Given the description of an element on the screen output the (x, y) to click on. 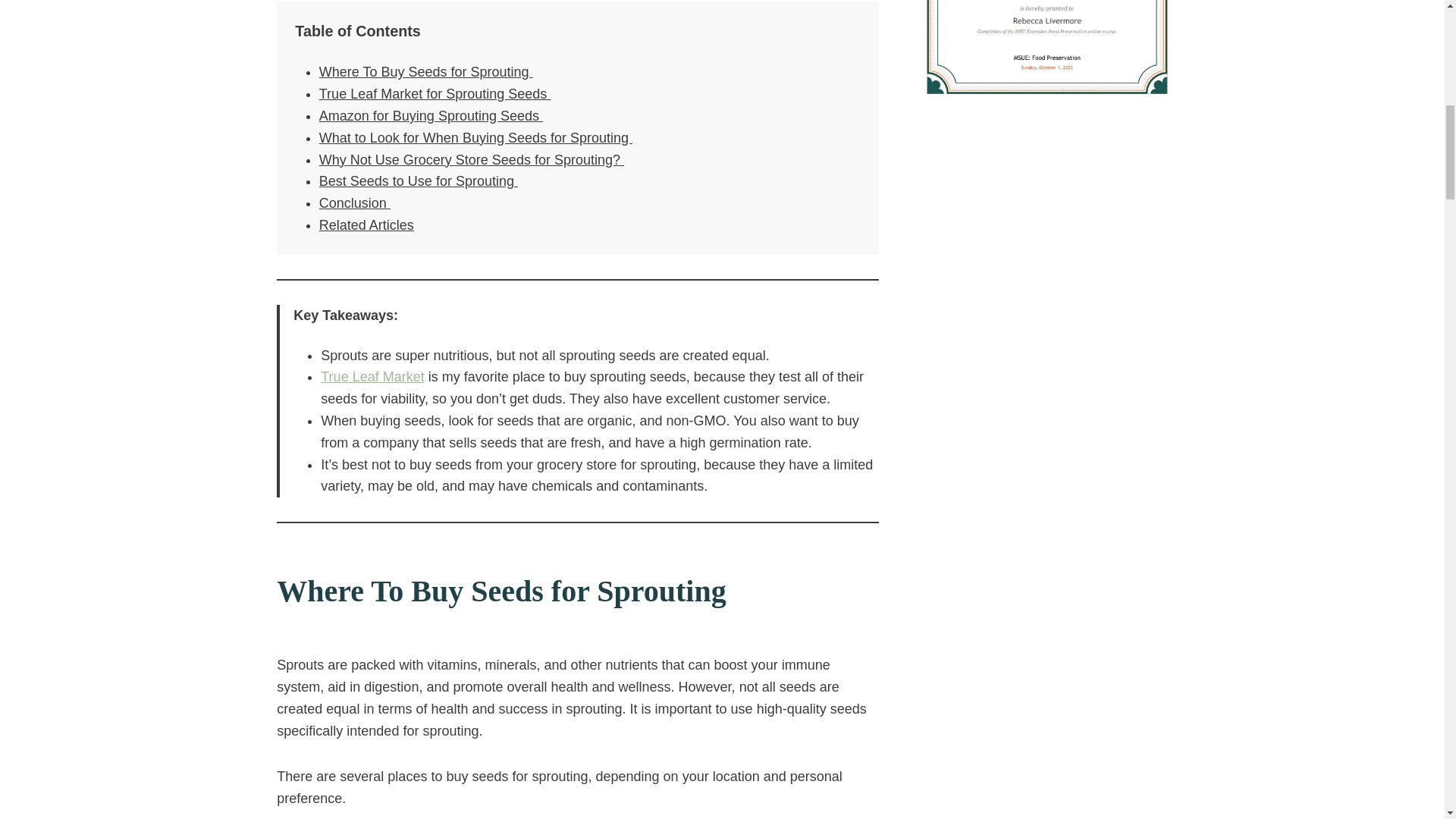
Where To Buy Seeds for Sprouting  (425, 71)
Related Articles (365, 224)
Why Not Use Grocery Store Seeds for Sprouting?  (471, 159)
True Leaf Market for Sprouting Seeds  (434, 93)
What to Look for When Buying Seeds for Sprouting  (474, 137)
Best Seeds to Use for Sprouting  (418, 181)
Amazon for Buying Sprouting Seeds  (430, 115)
Conclusion  (354, 202)
True Leaf Market (371, 376)
